Given the description of an element on the screen output the (x, y) to click on. 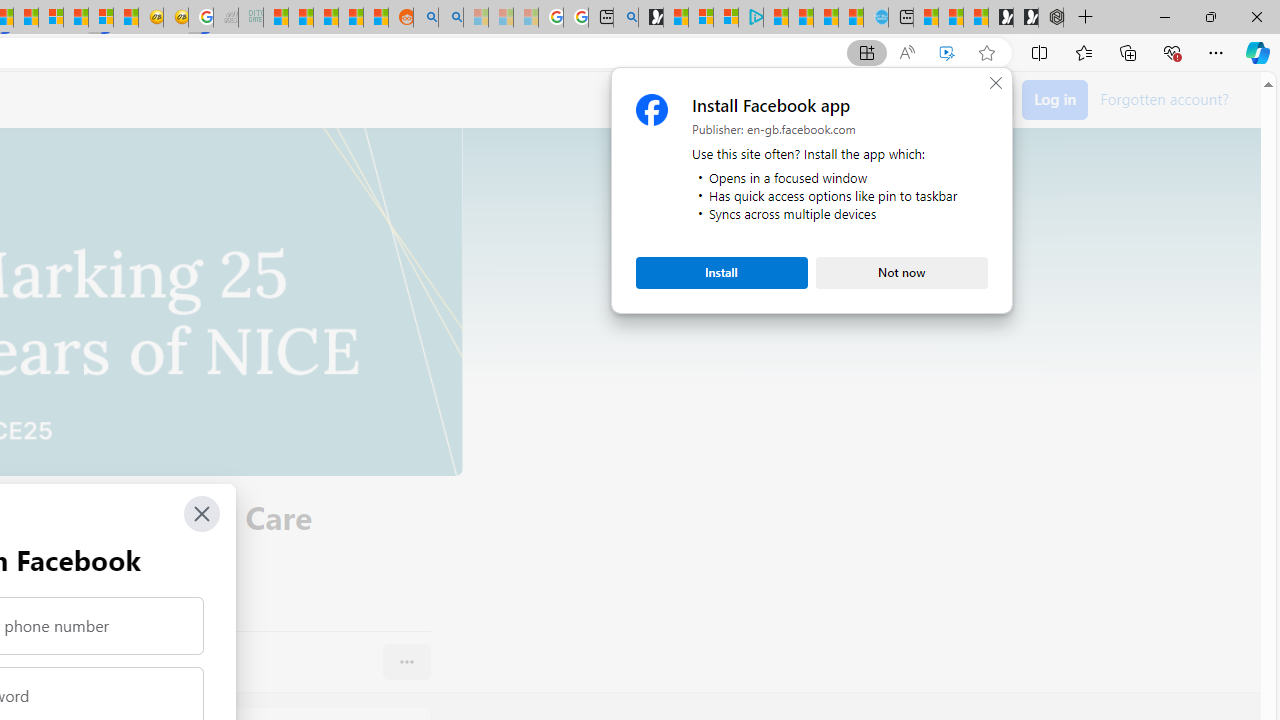
Utah sues federal government - Search (451, 17)
